Given the description of an element on the screen output the (x, y) to click on. 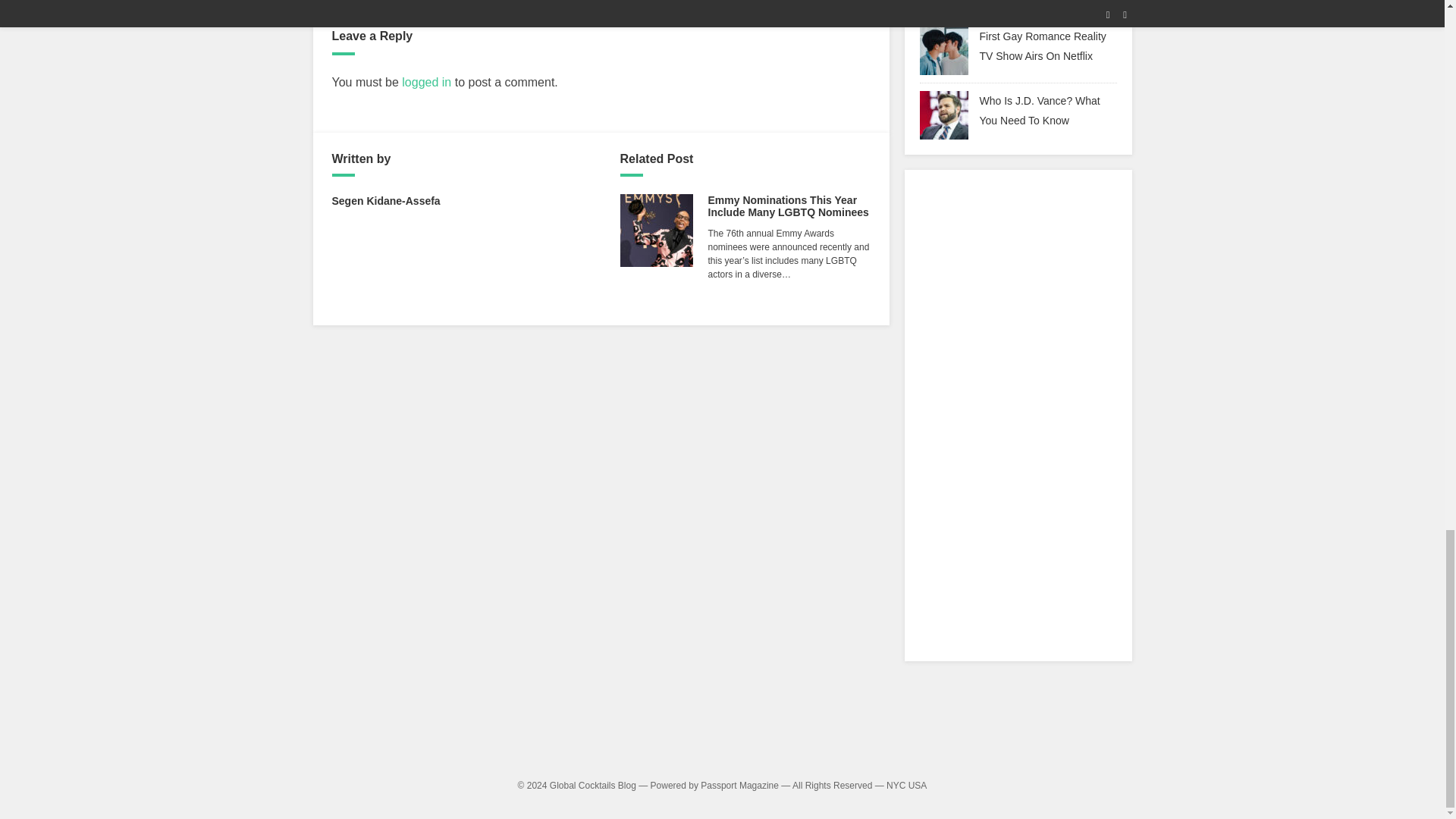
3rd party ad content (722, 735)
